Given the description of an element on the screen output the (x, y) to click on. 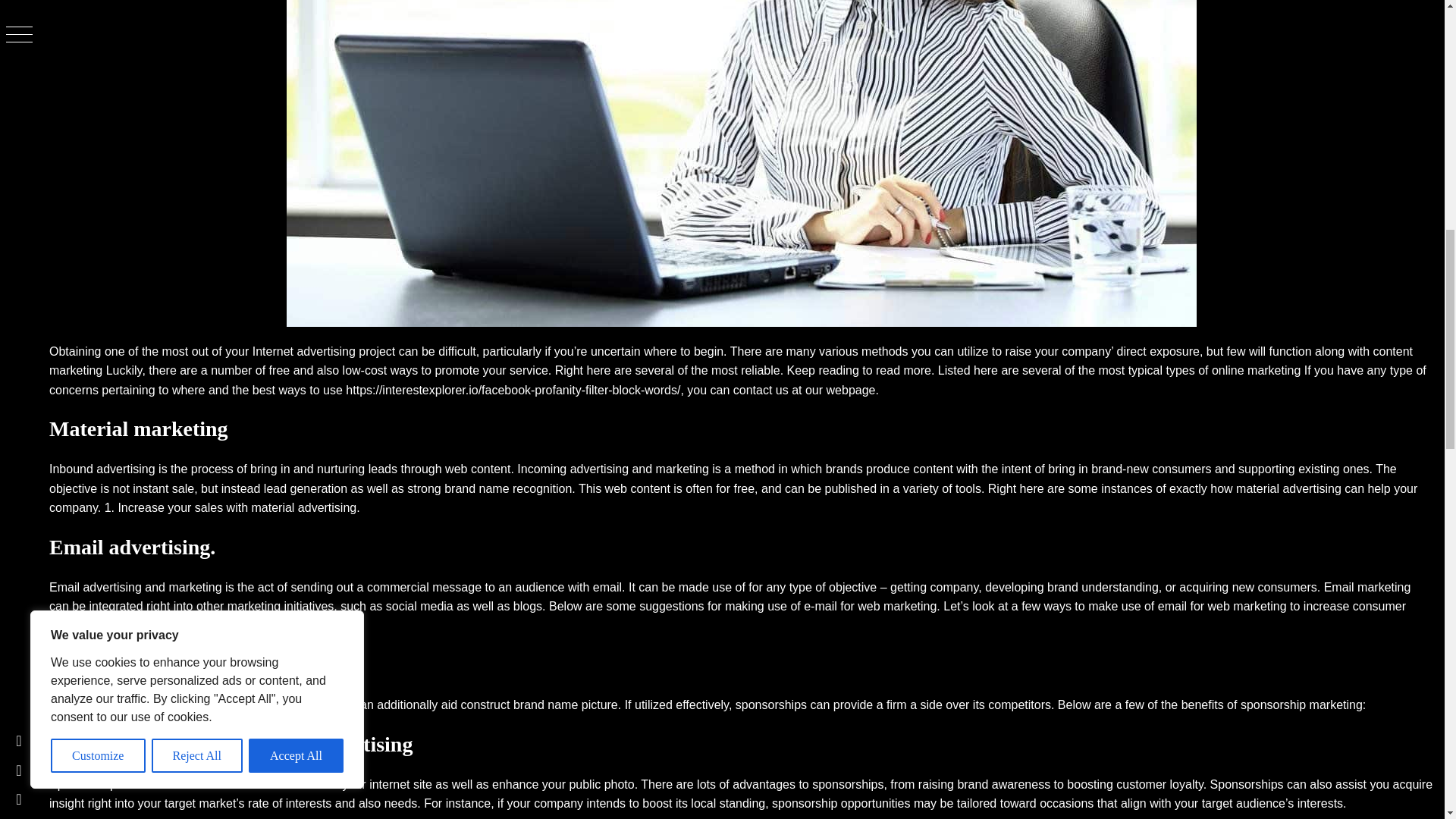
Obtaining (75, 350)
promote (456, 369)
